Given the description of an element on the screen output the (x, y) to click on. 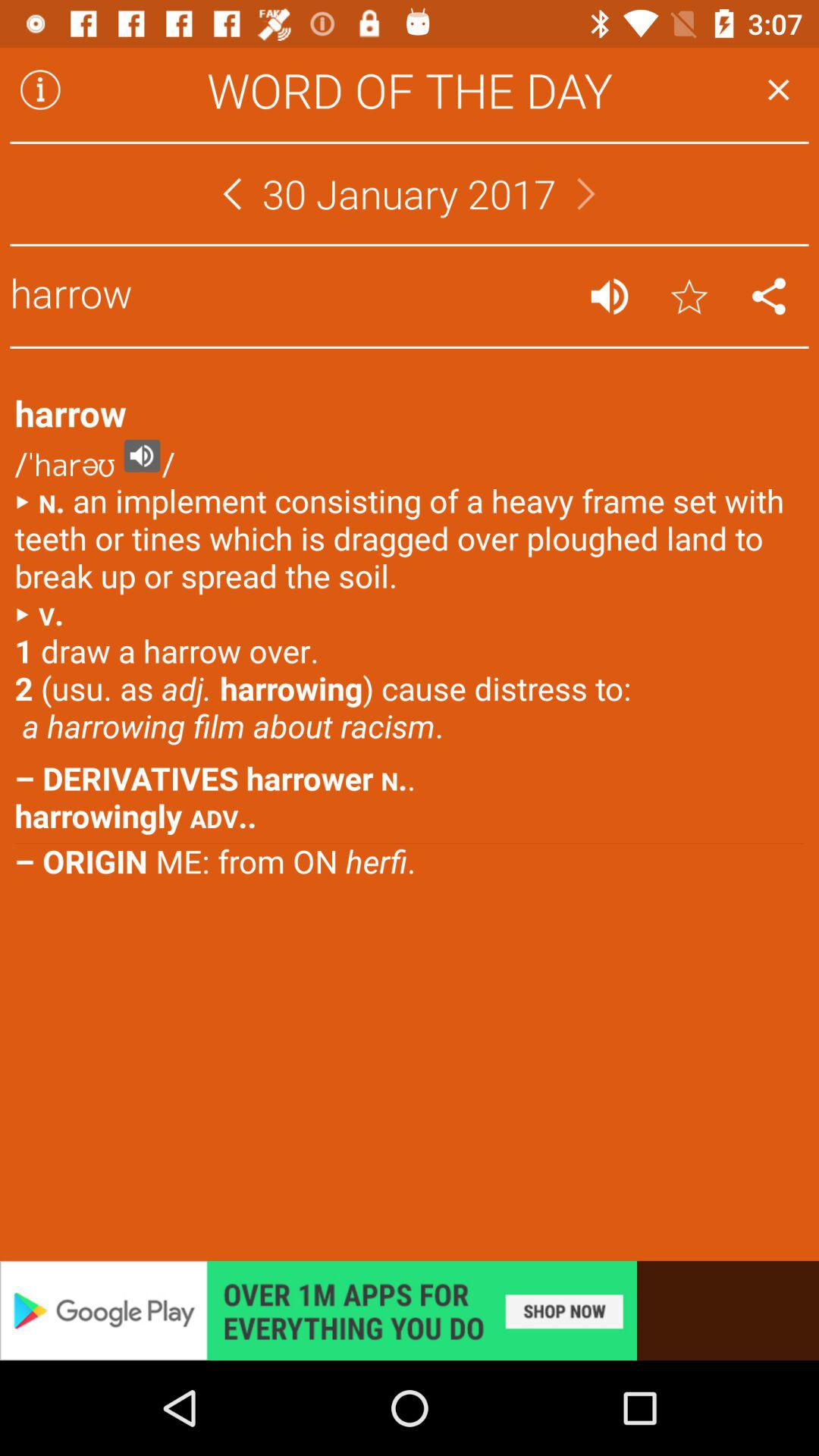
go to the previous day (231, 193)
